Given the description of an element on the screen output the (x, y) to click on. 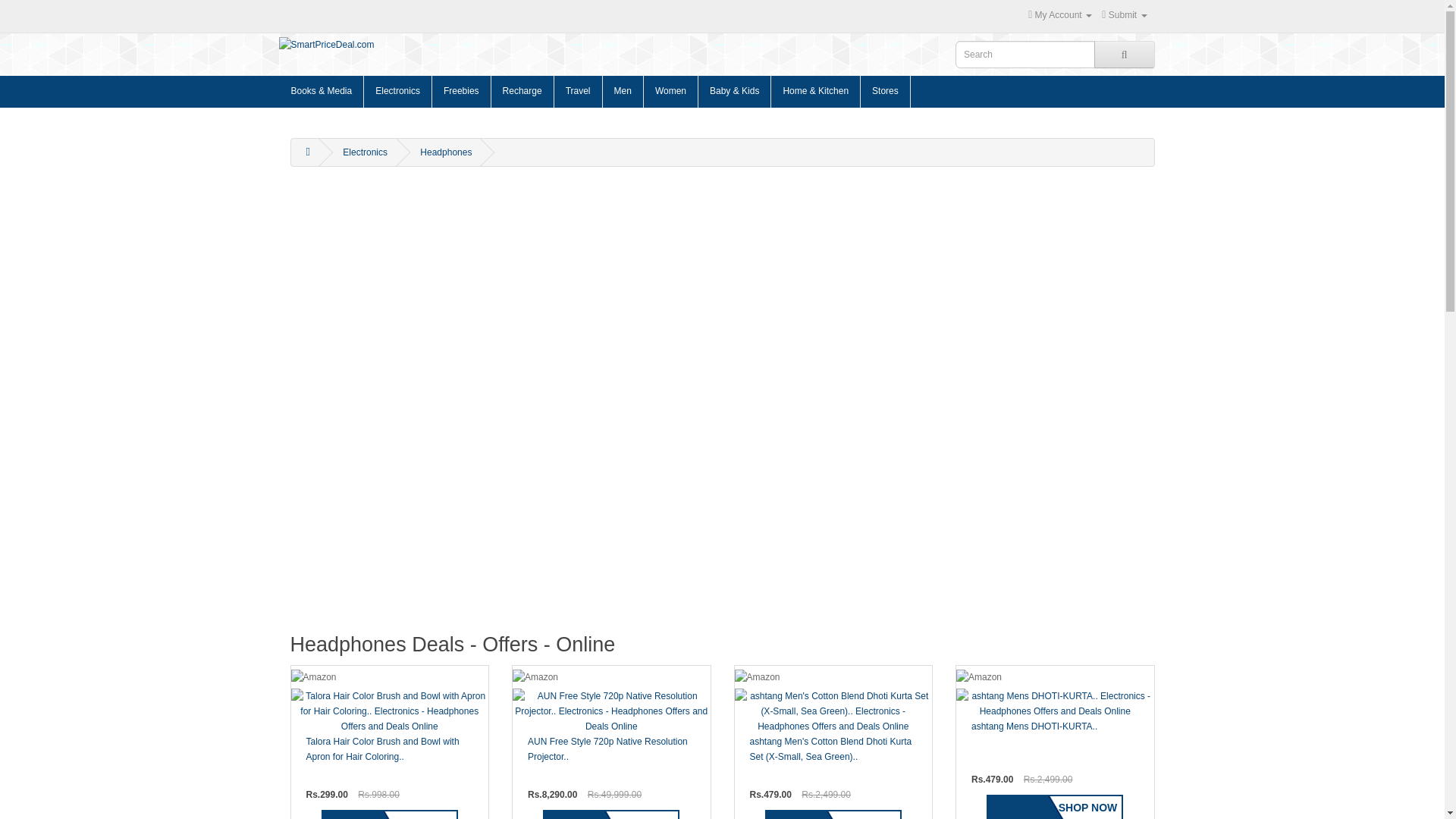
SmartPriceDeal.com (427, 44)
My Account (1124, 14)
Amazon (832, 676)
Men (622, 91)
Travel (578, 91)
Freebies (462, 91)
Submit (1124, 14)
Amazon (390, 676)
My Account (1059, 14)
Electronics (398, 91)
My Account (1059, 14)
Recharge (523, 91)
Amazon (1055, 676)
Amazon (611, 676)
